Given the description of an element on the screen output the (x, y) to click on. 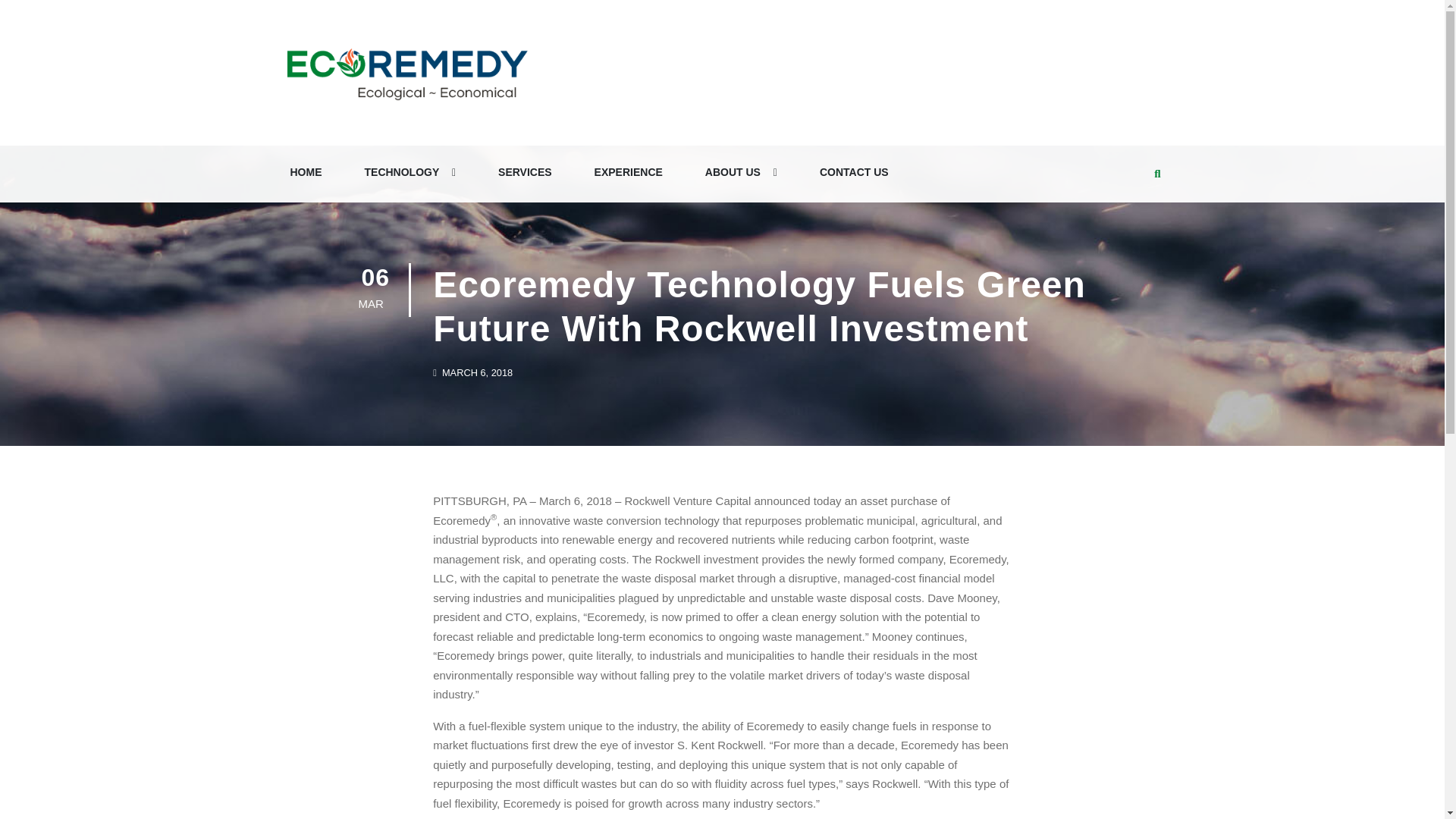
Ecoremedy-LogoTagline-02 (406, 72)
ABOUT US (740, 172)
SERVICES (524, 172)
CONTACT US (854, 172)
TECHNOLOGY (409, 172)
HOME (305, 172)
EXPERIENCE (628, 172)
